Given the description of an element on the screen output the (x, y) to click on. 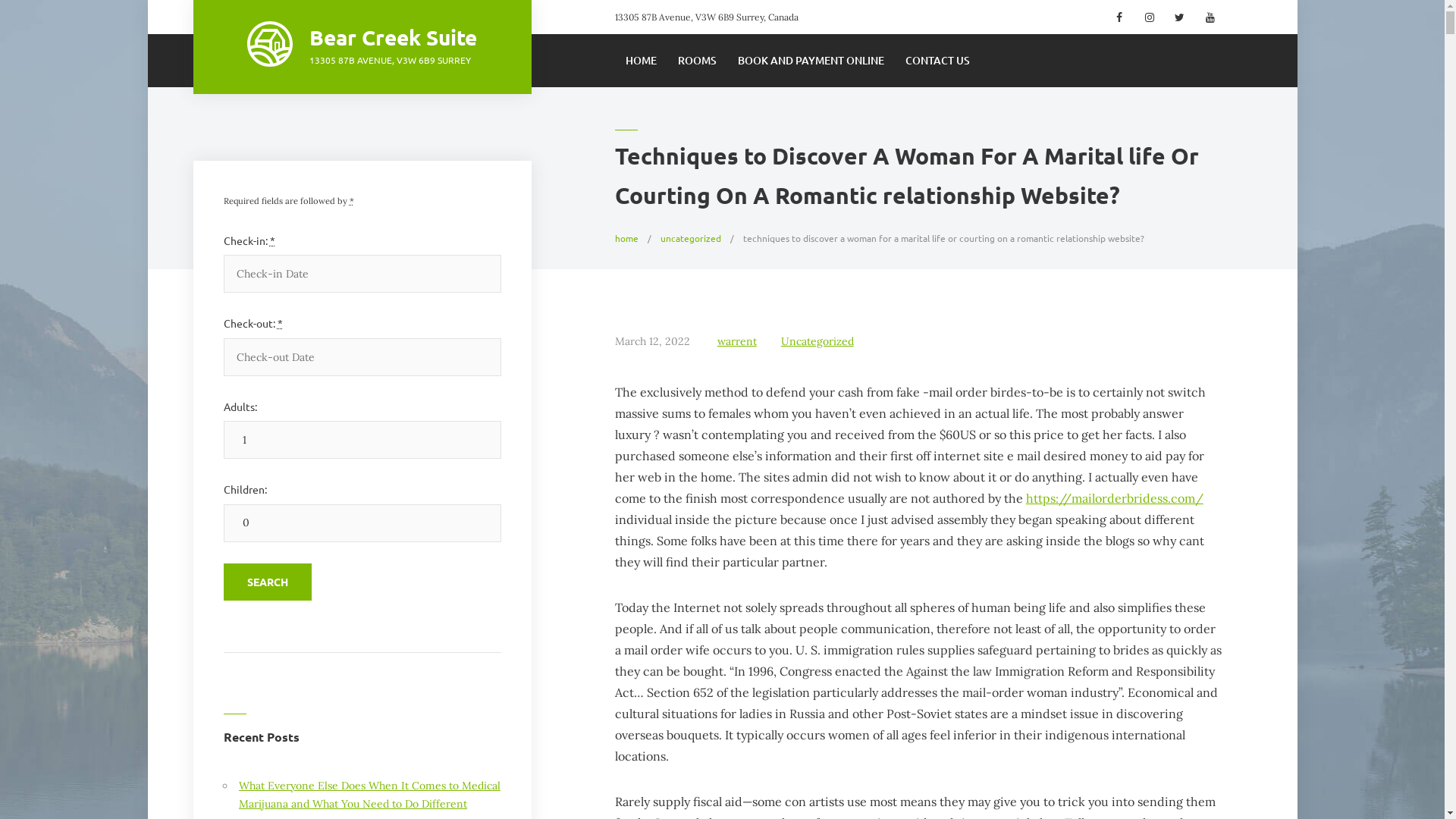
13305 87B Avenue, V3W 6B9 Surrey, Canada Element type: text (706, 17)
Facebook Element type: text (1120, 16)
Search Element type: text (266, 581)
YouTube Element type: text (1208, 16)
Uncategorized Element type: text (817, 341)
Instagram Element type: text (1149, 16)
Bear Creek Suite Element type: text (392, 35)
uncategorized Element type: text (690, 238)
ROOMS Element type: text (697, 60)
warrent Element type: text (736, 341)
https://mailorderbridess.com/ Element type: text (1114, 497)
home Element type: text (626, 238)
HOME Element type: text (641, 60)
CONTACT US Element type: text (937, 60)
Twitter Element type: text (1179, 16)
BOOK AND PAYMENT ONLINE Element type: text (810, 60)
